Given the description of an element on the screen output the (x, y) to click on. 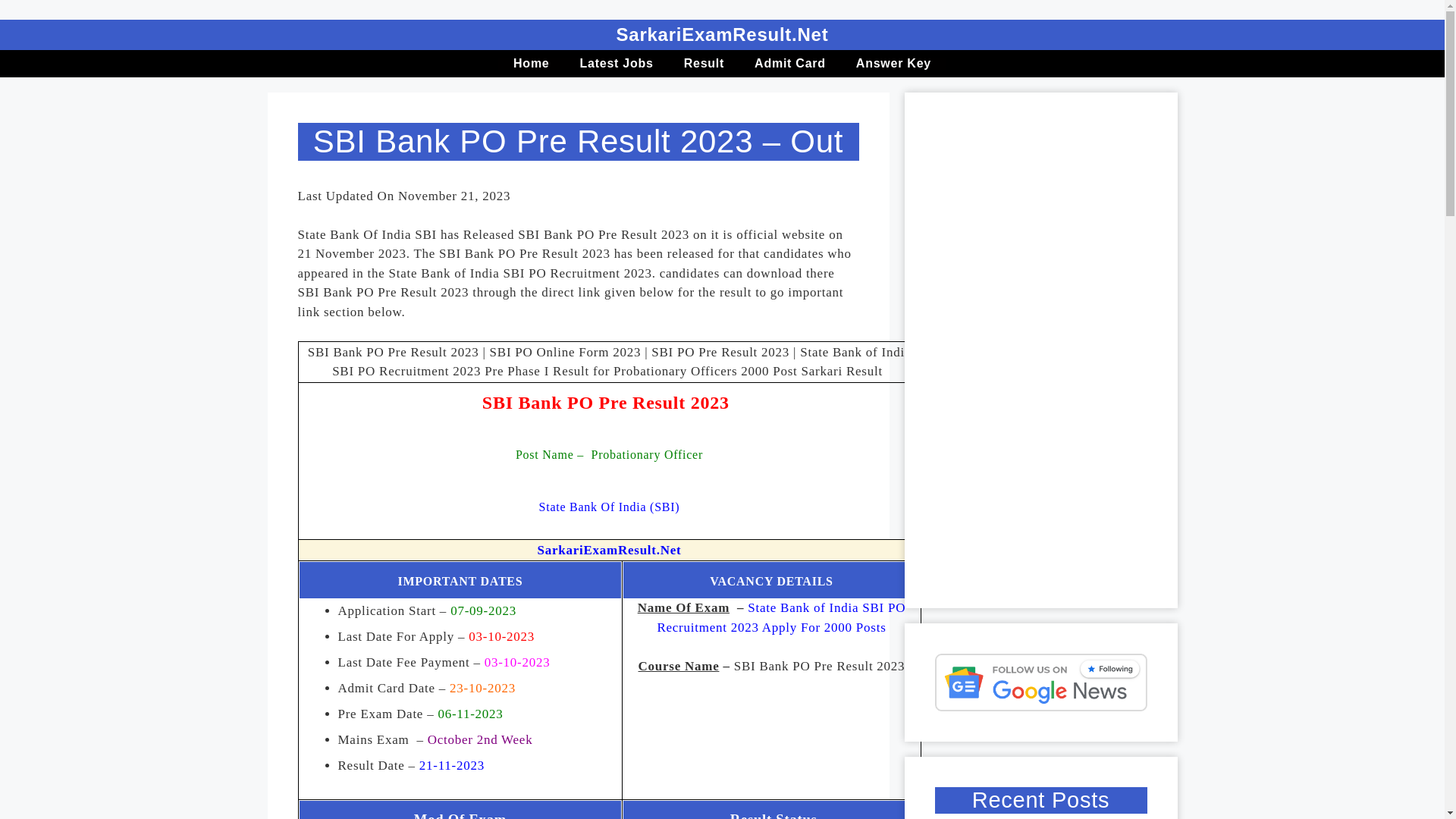
Latest Jobs (616, 63)
Home (530, 63)
SarkariExamResult.Net (609, 549)
Answer Key (893, 63)
Admit Card (790, 63)
Result (703, 63)
